Given the description of an element on the screen output the (x, y) to click on. 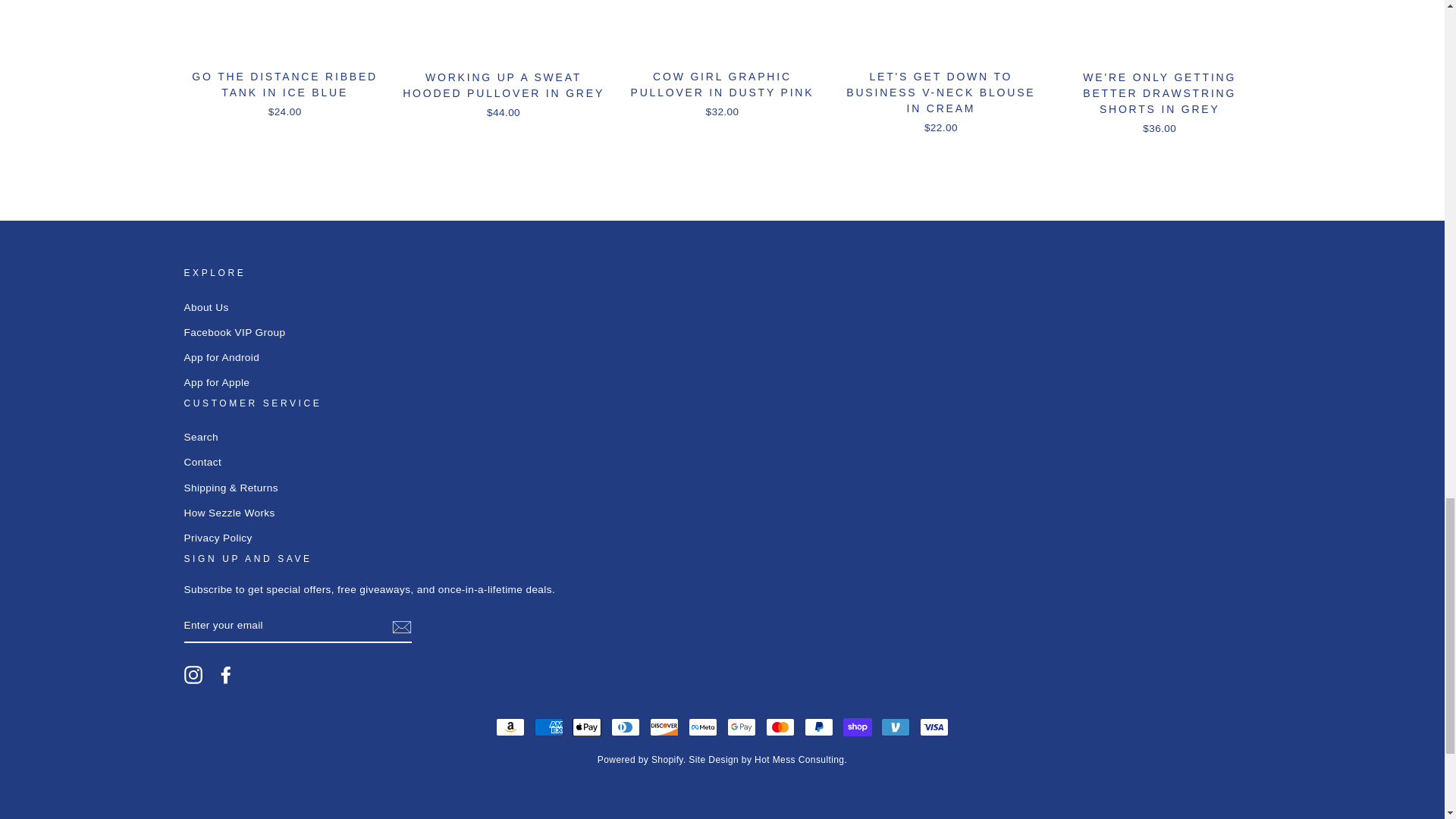
Amazon (510, 727)
Diners Club (625, 727)
Apple Pay (586, 727)
Meta Pay (702, 727)
American Express (548, 727)
Discover (663, 727)
